Given the description of an element on the screen output the (x, y) to click on. 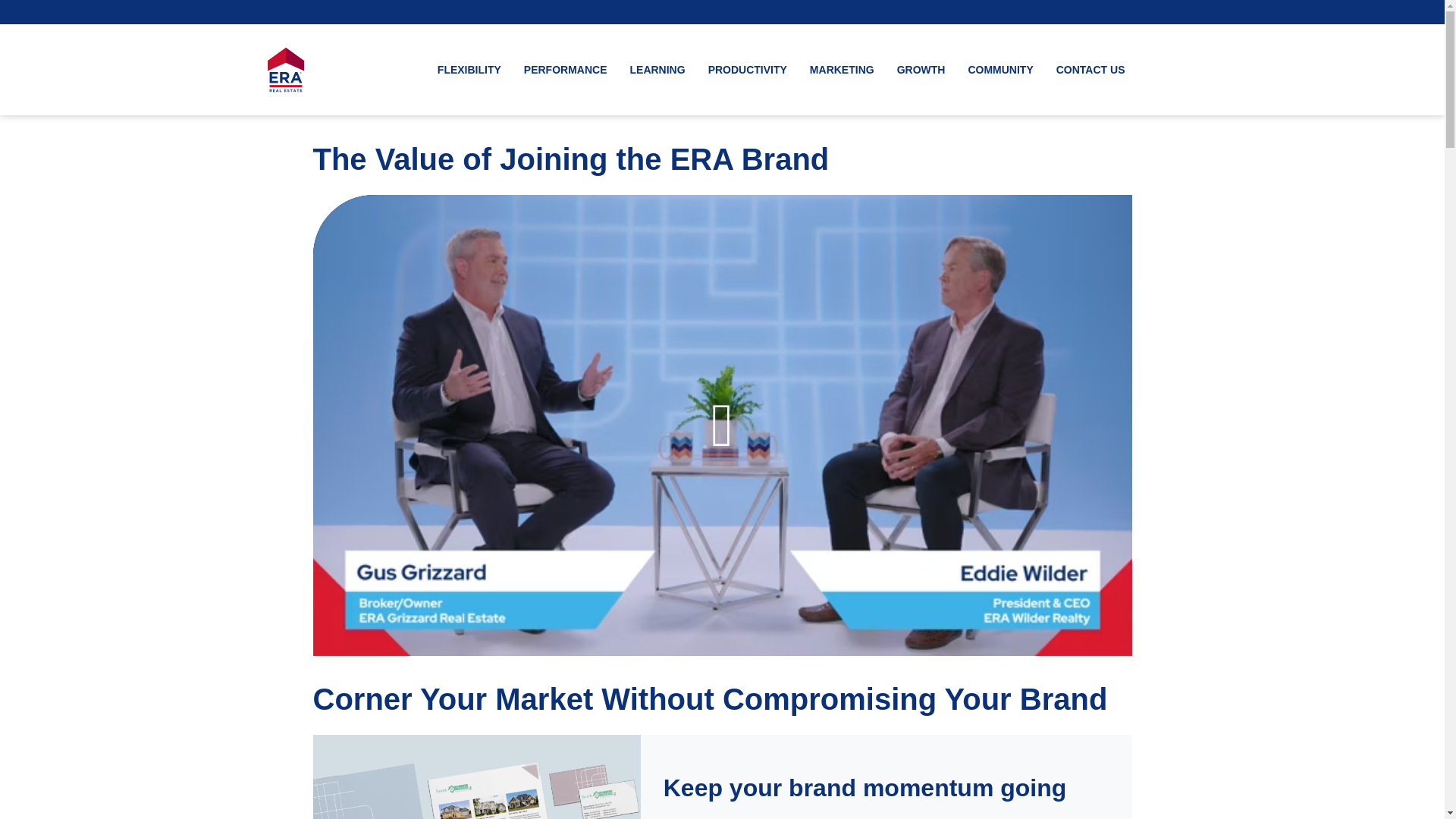
PERFORMANCE (565, 69)
PRODUCTIVITY (747, 69)
COMMUNITY (999, 69)
GROWTH (920, 69)
MARKETING (841, 69)
FLEXIBILITY (469, 69)
LEARNING (657, 69)
CONTACT US (1091, 69)
